Given the description of an element on the screen output the (x, y) to click on. 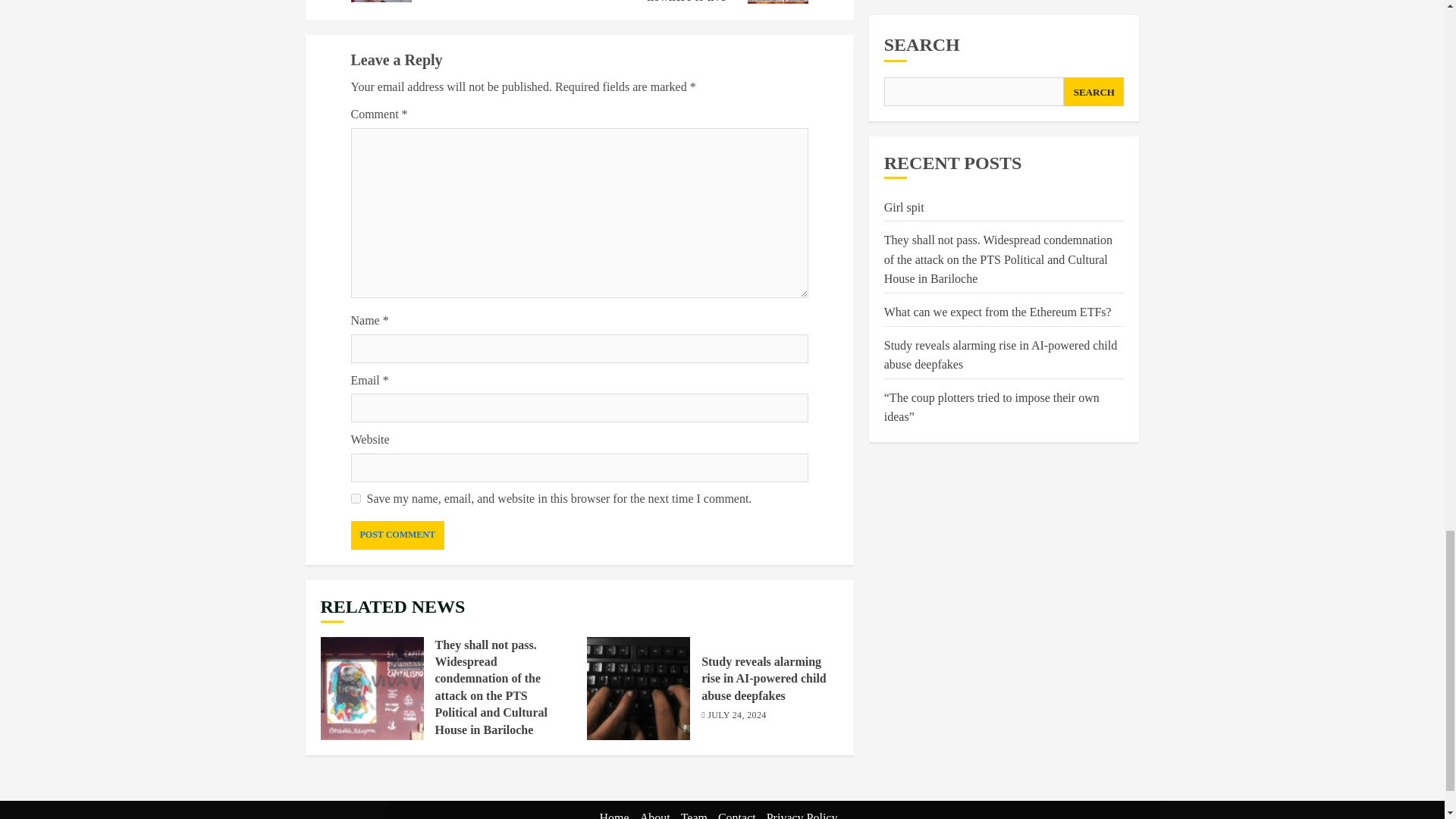
Post Comment (397, 534)
Home (613, 815)
Contact (736, 815)
Team (694, 815)
Privacy Policy (802, 815)
About (654, 815)
JULY 24, 2024 (736, 716)
yes (354, 498)
Post Comment (397, 534)
